Given the description of an element on the screen output the (x, y) to click on. 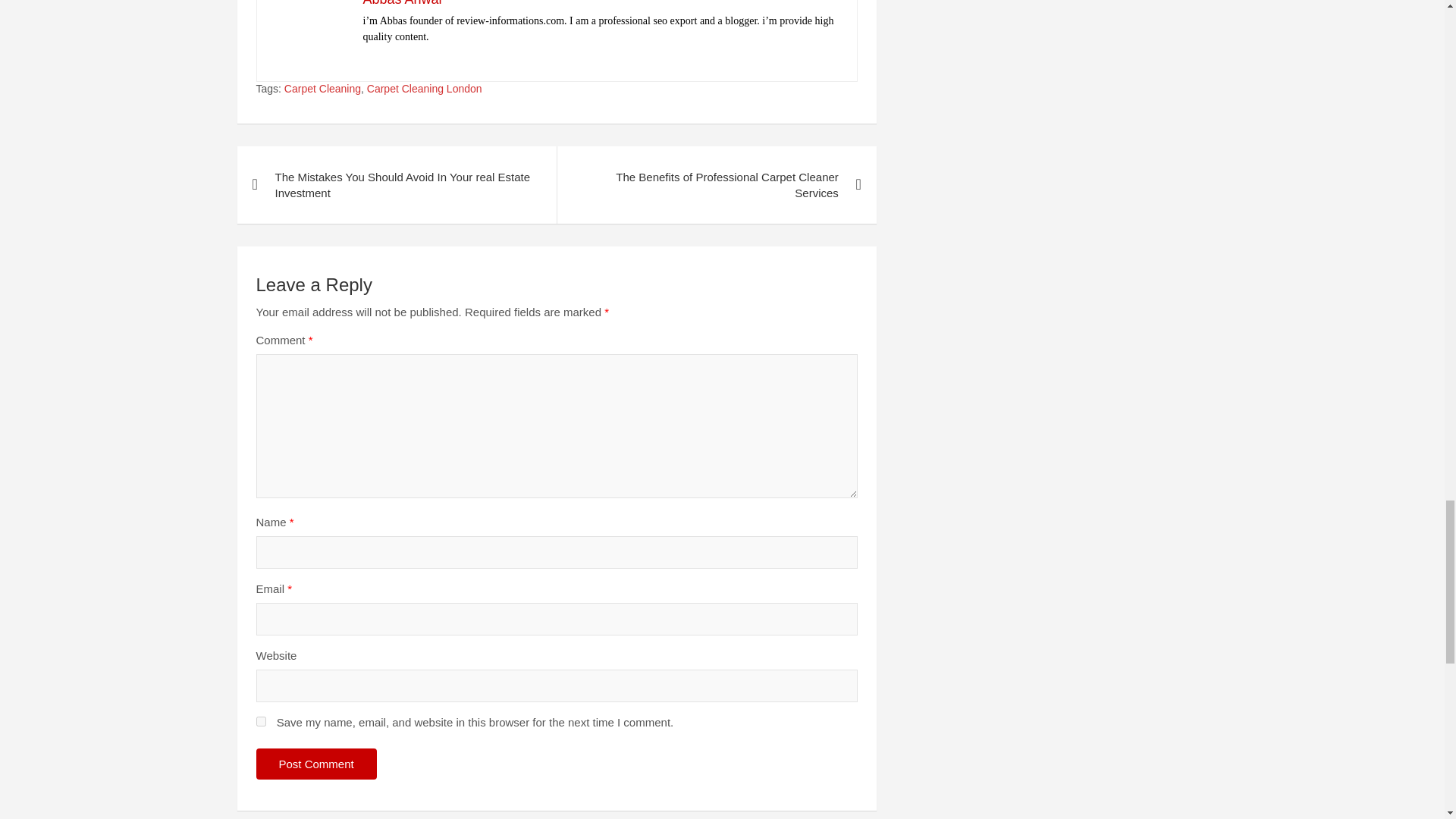
Carpet Cleaning (322, 89)
Abbas Anwar (402, 3)
Carpet Cleaning London (423, 89)
The Mistakes You Should Avoid In Your real Estate Investment (395, 184)
yes (261, 721)
Post Comment (316, 763)
